Given the description of an element on the screen output the (x, y) to click on. 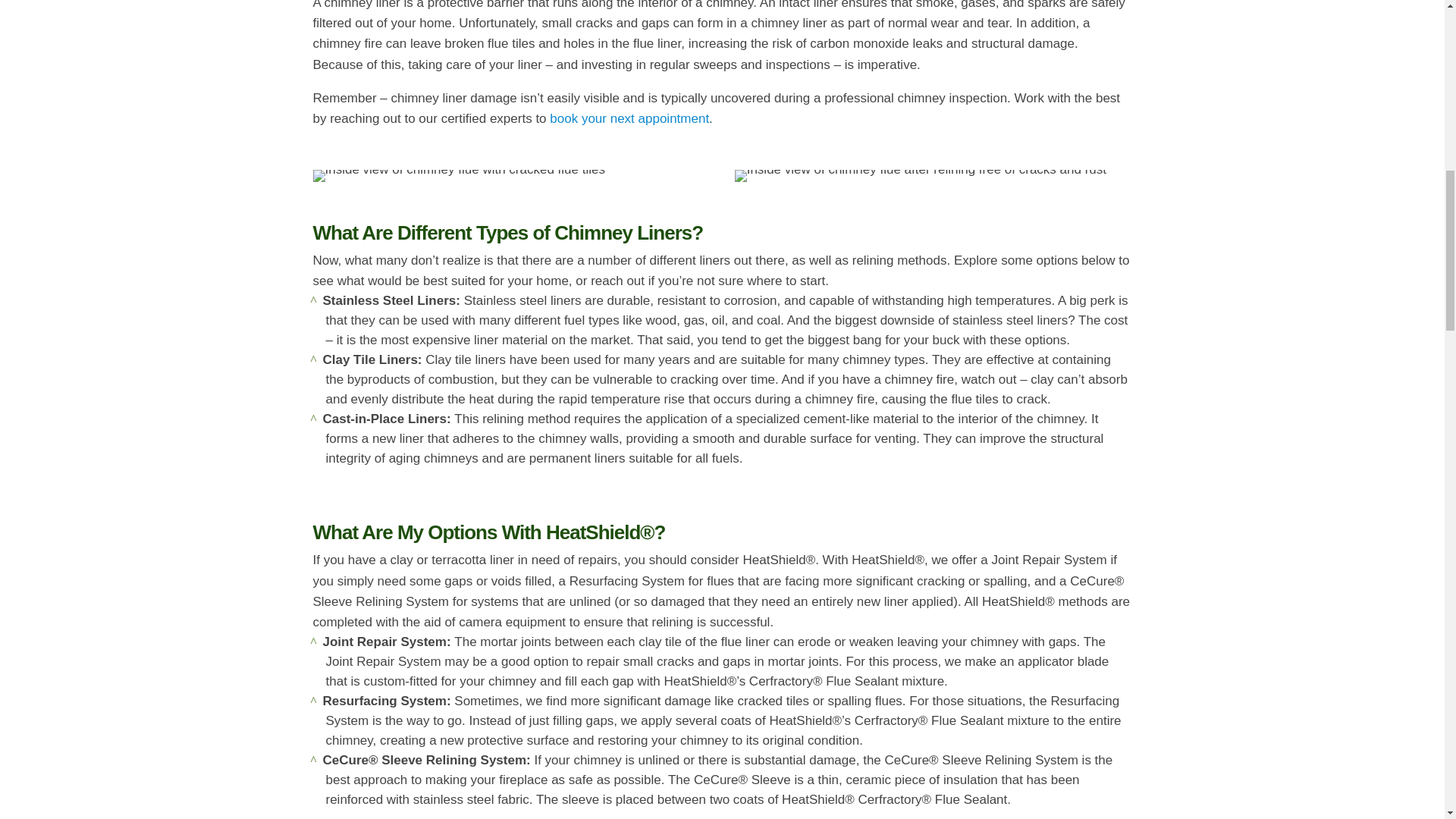
Mid-Valley Chimney Original Photo of Flue Relining (920, 175)
Mid-Valley Chimney Original Photo of Cracked Flue Tiles (458, 175)
book your next appointment (629, 118)
